Given the description of an element on the screen output the (x, y) to click on. 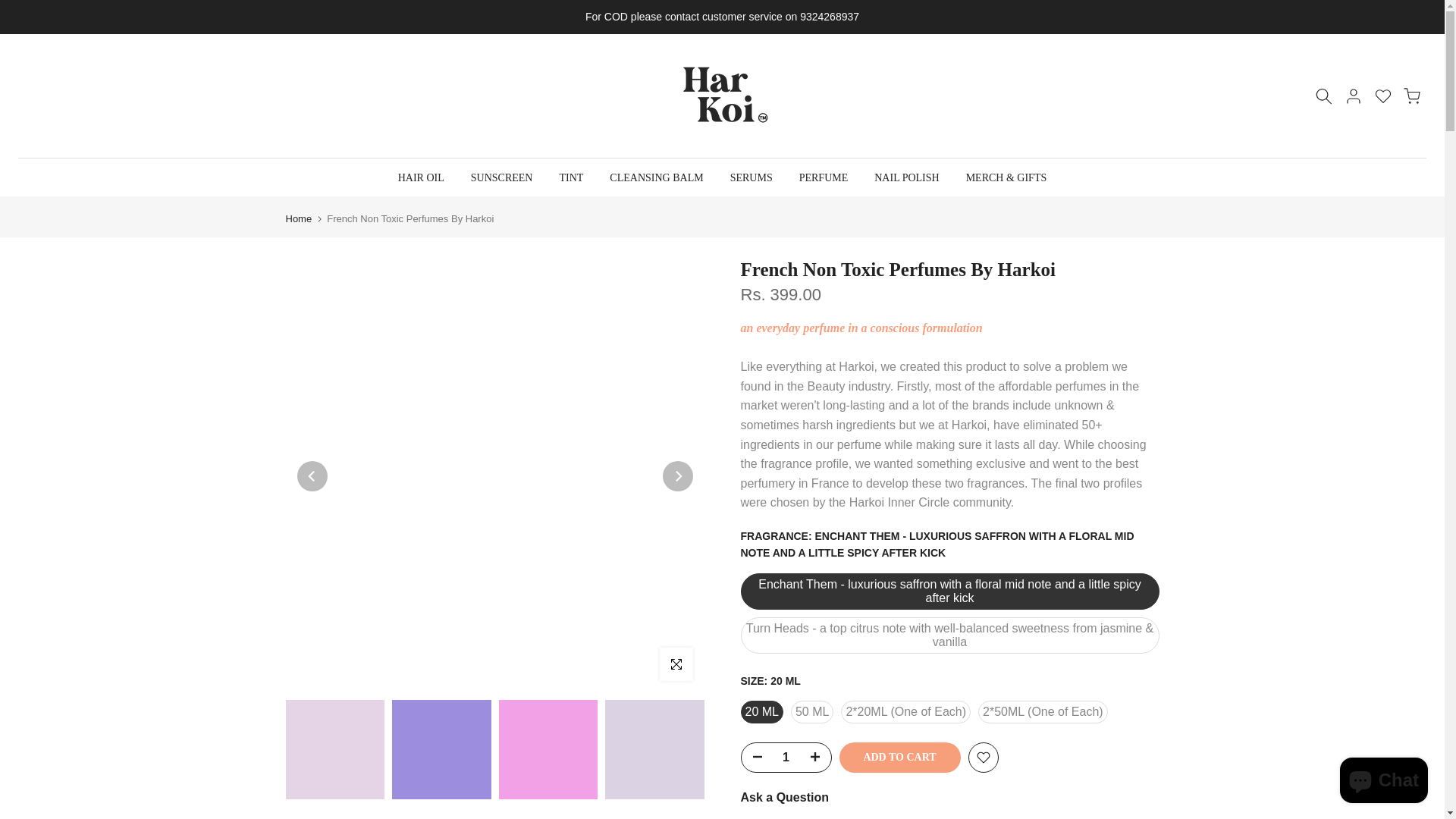
HAIR OIL (420, 177)
Ask a Question (783, 797)
CLEANSING BALM (656, 177)
1 (786, 757)
SERUMS (751, 177)
Home (298, 218)
ADD TO CART (898, 757)
SUNSCREEN (501, 177)
PERFUME (823, 177)
TINT (571, 177)
